Given the description of an element on the screen output the (x, y) to click on. 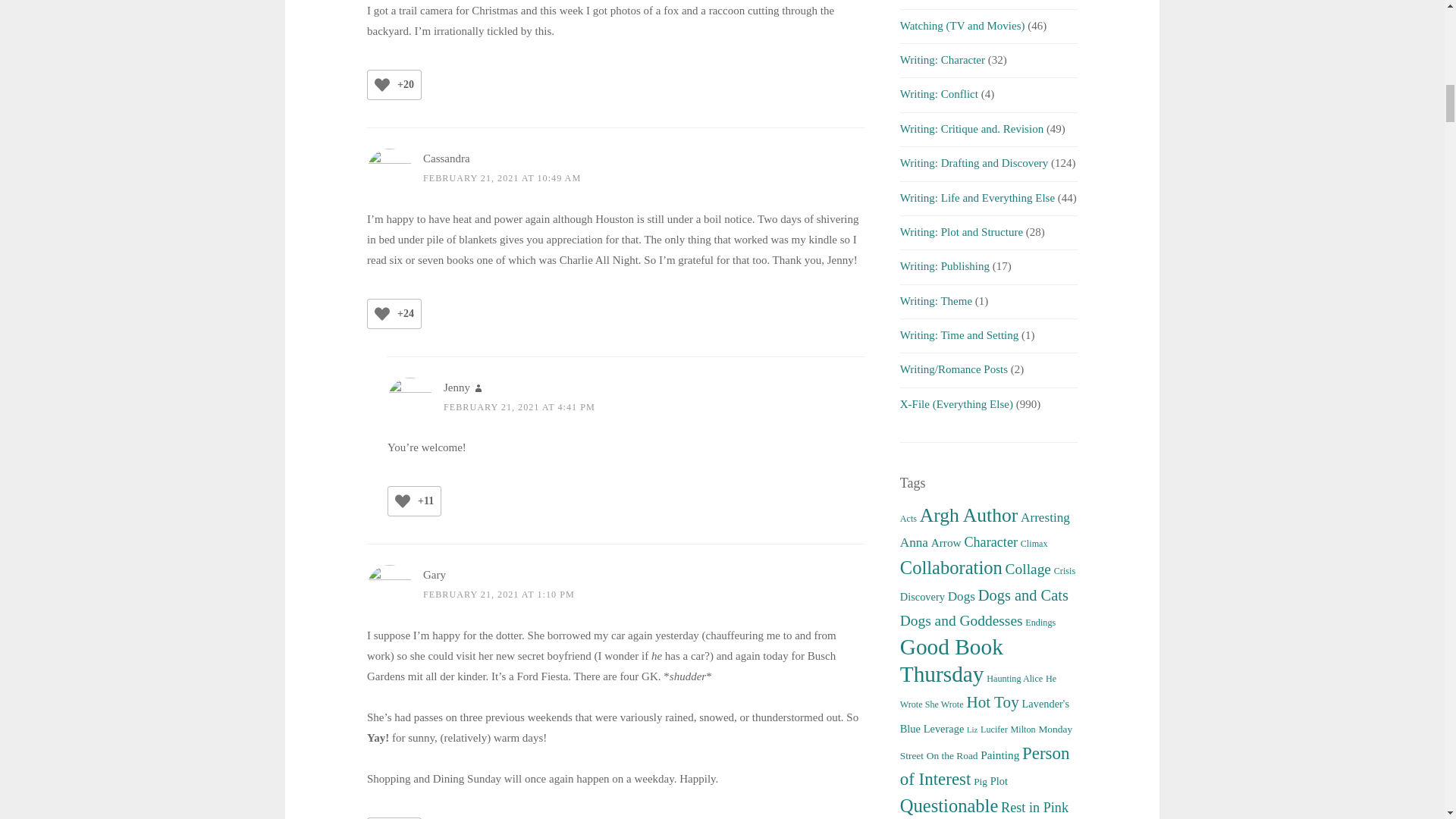
FEBRUARY 21, 2021 AT 10:49 AM (501, 177)
Gary (434, 574)
FEBRUARY 21, 2021 AT 1:10 PM (499, 593)
FEBRUARY 21, 2021 AT 4:41 PM (519, 407)
